Given the description of an element on the screen output the (x, y) to click on. 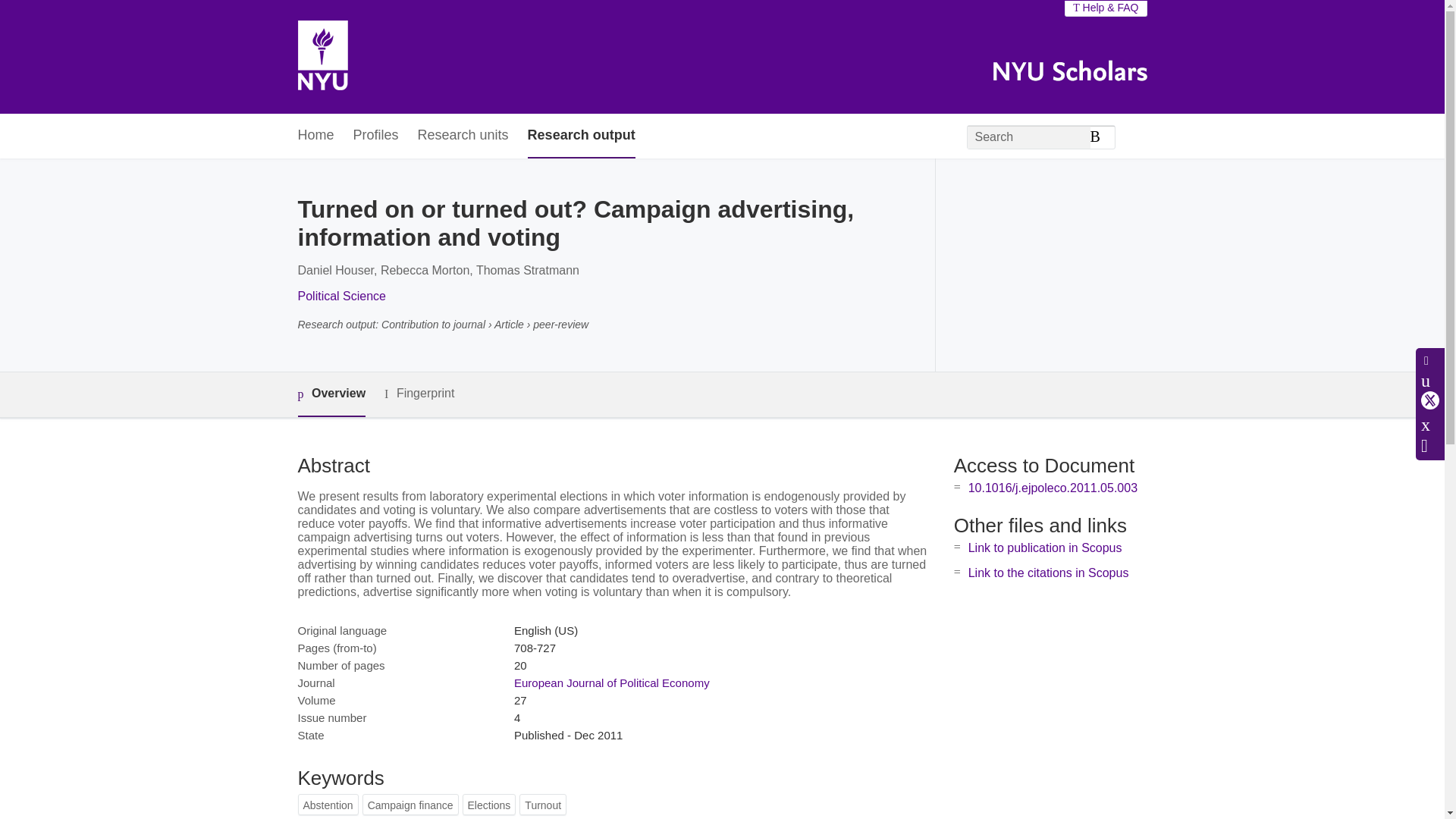
Profiles (375, 135)
Research output (580, 135)
Link to publication in Scopus (1045, 547)
Fingerprint (419, 393)
Political Science (341, 295)
European Journal of Political Economy (611, 682)
Research units (462, 135)
Overview (331, 394)
Link to the citations in Scopus (1048, 572)
